Given the description of an element on the screen output the (x, y) to click on. 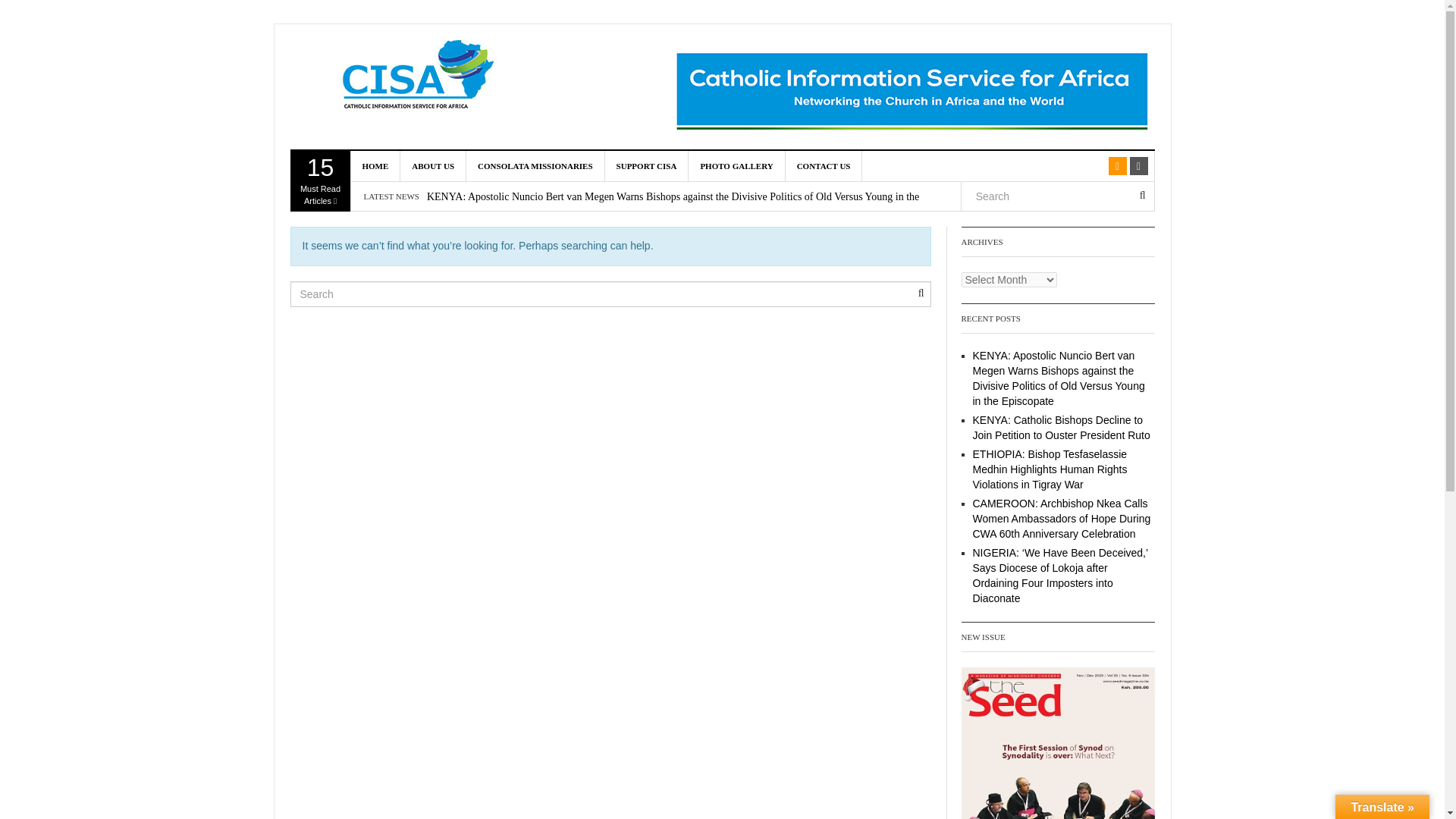
SUPPORT CISA (646, 165)
CONSOLATA MISSIONARIES (535, 165)
NEW ISSUE (1057, 743)
PHOTO GALLERY (736, 165)
Cisa News Africa (423, 77)
ABOUT US (432, 165)
CONTACT US (319, 180)
HOME (824, 165)
